Given the description of an element on the screen output the (x, y) to click on. 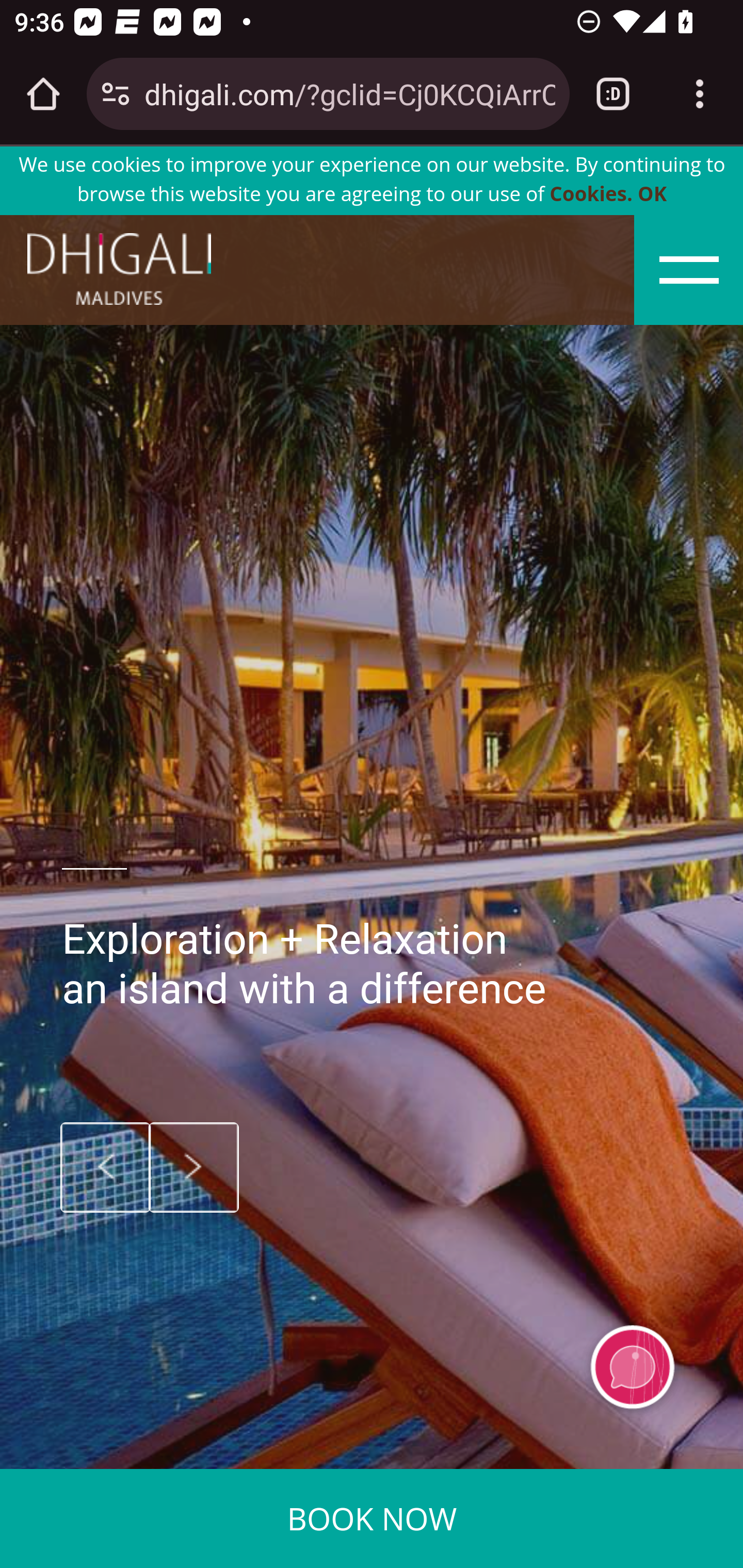
Open the home page (43, 93)
Connection is secure (115, 93)
Switch or close tabs (612, 93)
Customize and control Google Chrome (699, 93)
Cookies. (591, 195)
OK (651, 195)
Previous (105, 1167)
Next (193, 1167)
